Given the description of an element on the screen output the (x, y) to click on. 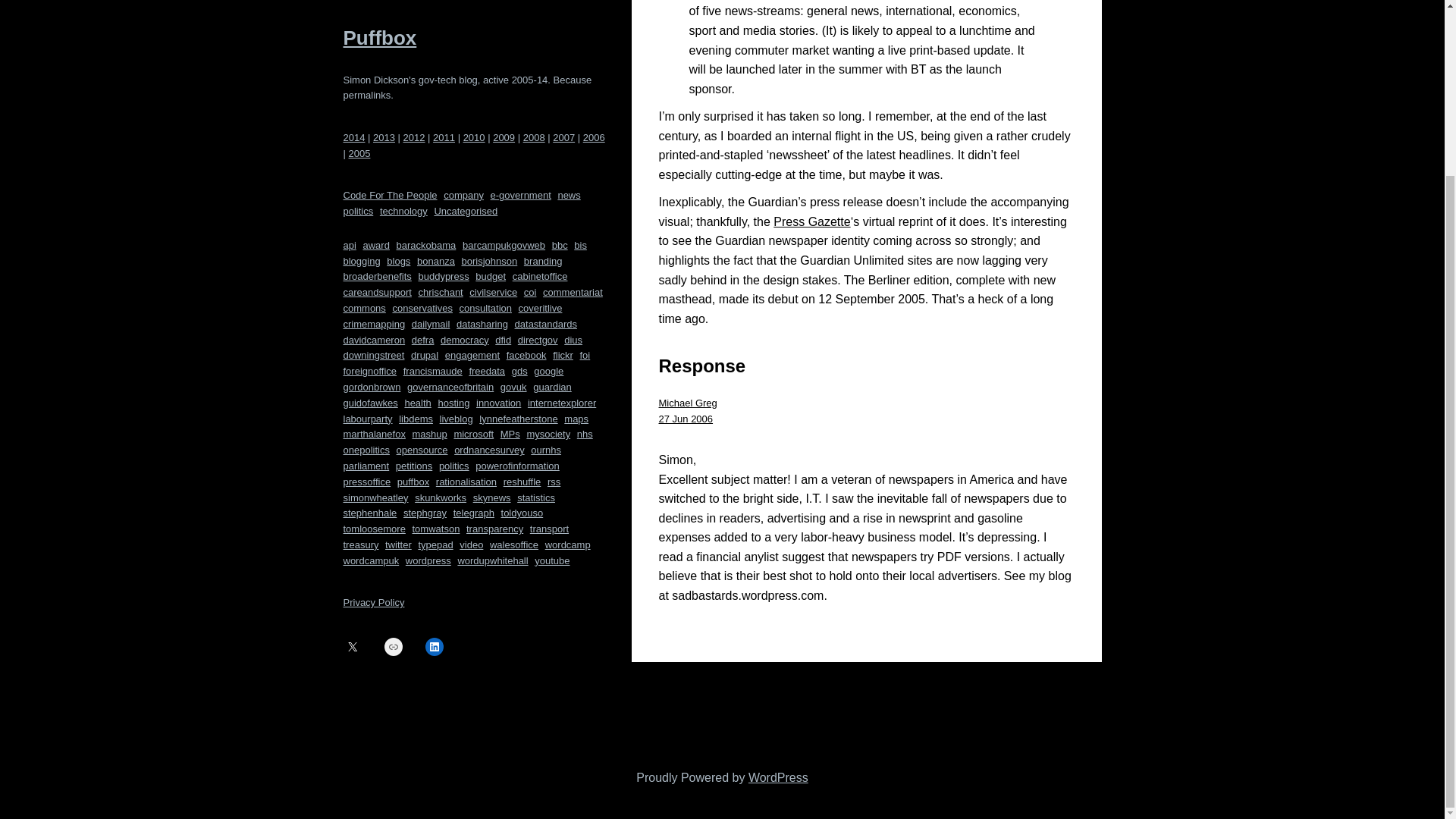
chrischant (440, 79)
blogging (361, 48)
cabinetoffice (539, 64)
budget (490, 64)
politics (357, 3)
commentariat (572, 79)
Uncategorised (465, 3)
barackobama (426, 32)
award (375, 32)
broaderbenefits (376, 64)
barcampukgovweb (503, 32)
commons (363, 95)
technology (404, 3)
bbc (559, 32)
branding (543, 48)
